Given the description of an element on the screen output the (x, y) to click on. 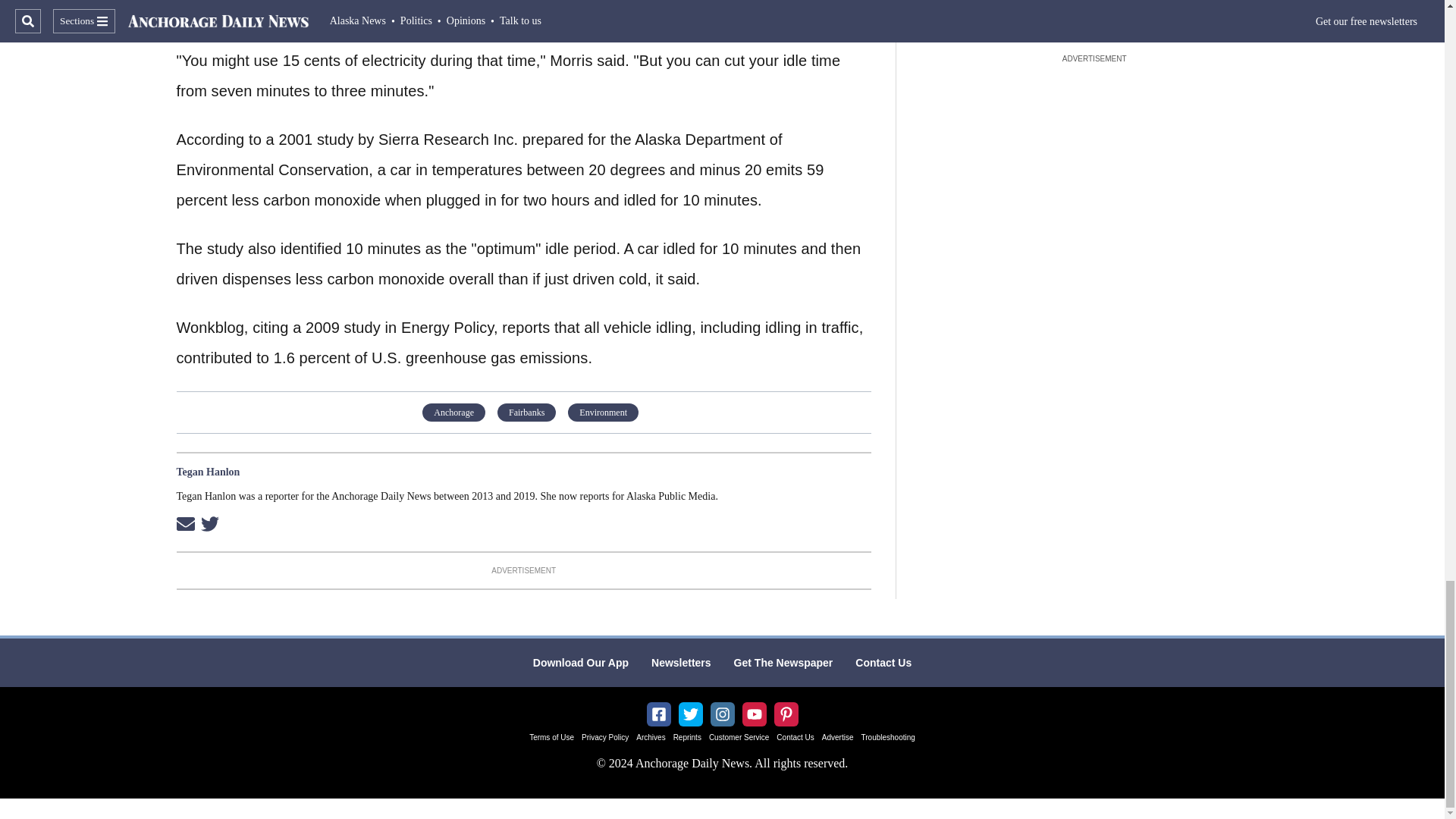
YouTube iconAnchorage Daily News YouTube channel (753, 713)
Twitter IconTwitter Account for Anchorage Daily News (689, 713)
PinterestAnchorage Daily News Pinterest Account (785, 713)
Instagram IconAnchorage Daily News instagram account (721, 713)
Facebook IconAnchorage Daily News Facebook Page (657, 713)
